Given the description of an element on the screen output the (x, y) to click on. 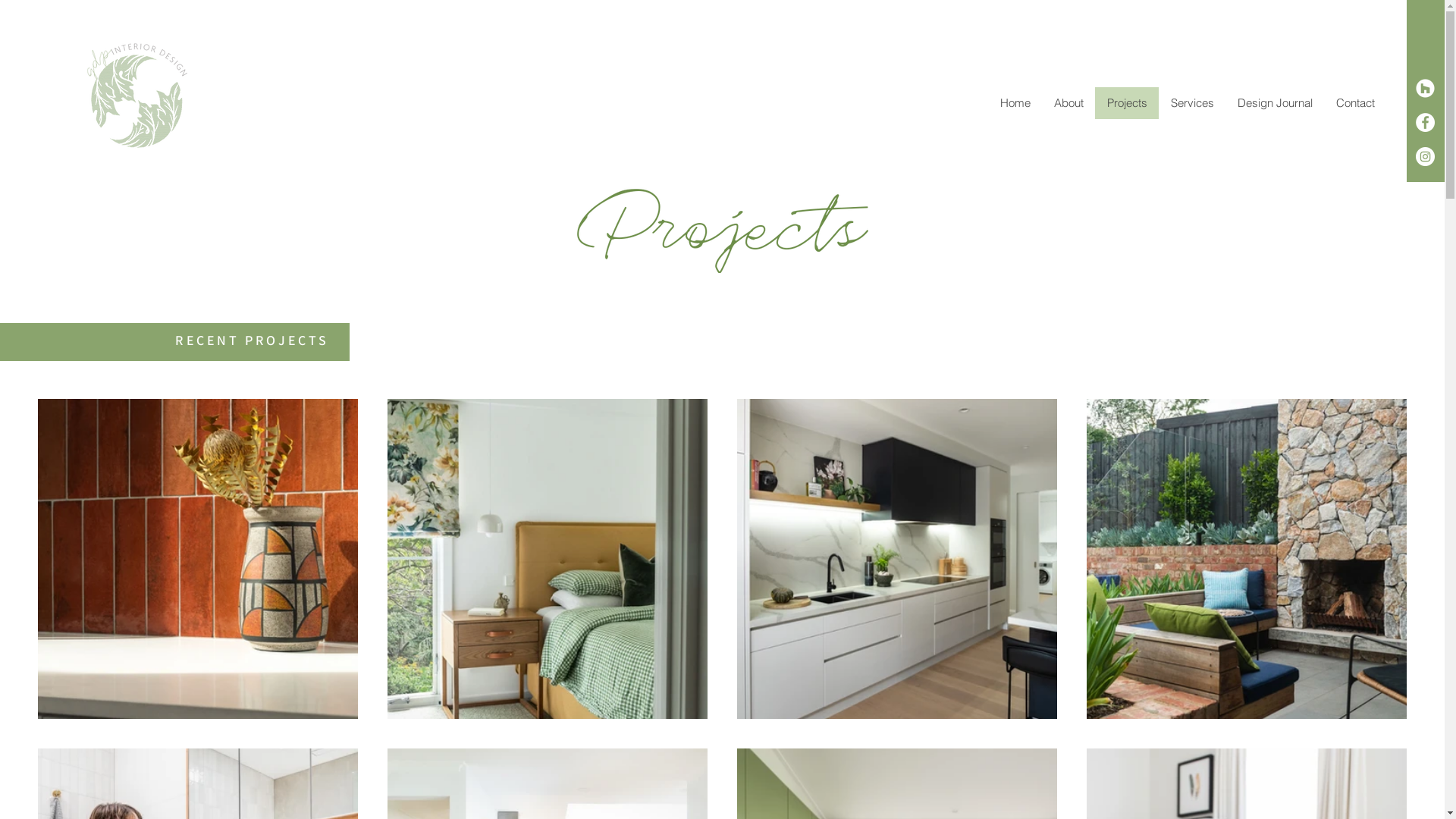
Home Element type: text (1014, 103)
Design Journal Element type: text (1274, 103)
Services Element type: text (1191, 103)
Projects Element type: text (1126, 103)
About Element type: text (1068, 103)
Contact Element type: text (1355, 103)
